Given the description of an element on the screen output the (x, y) to click on. 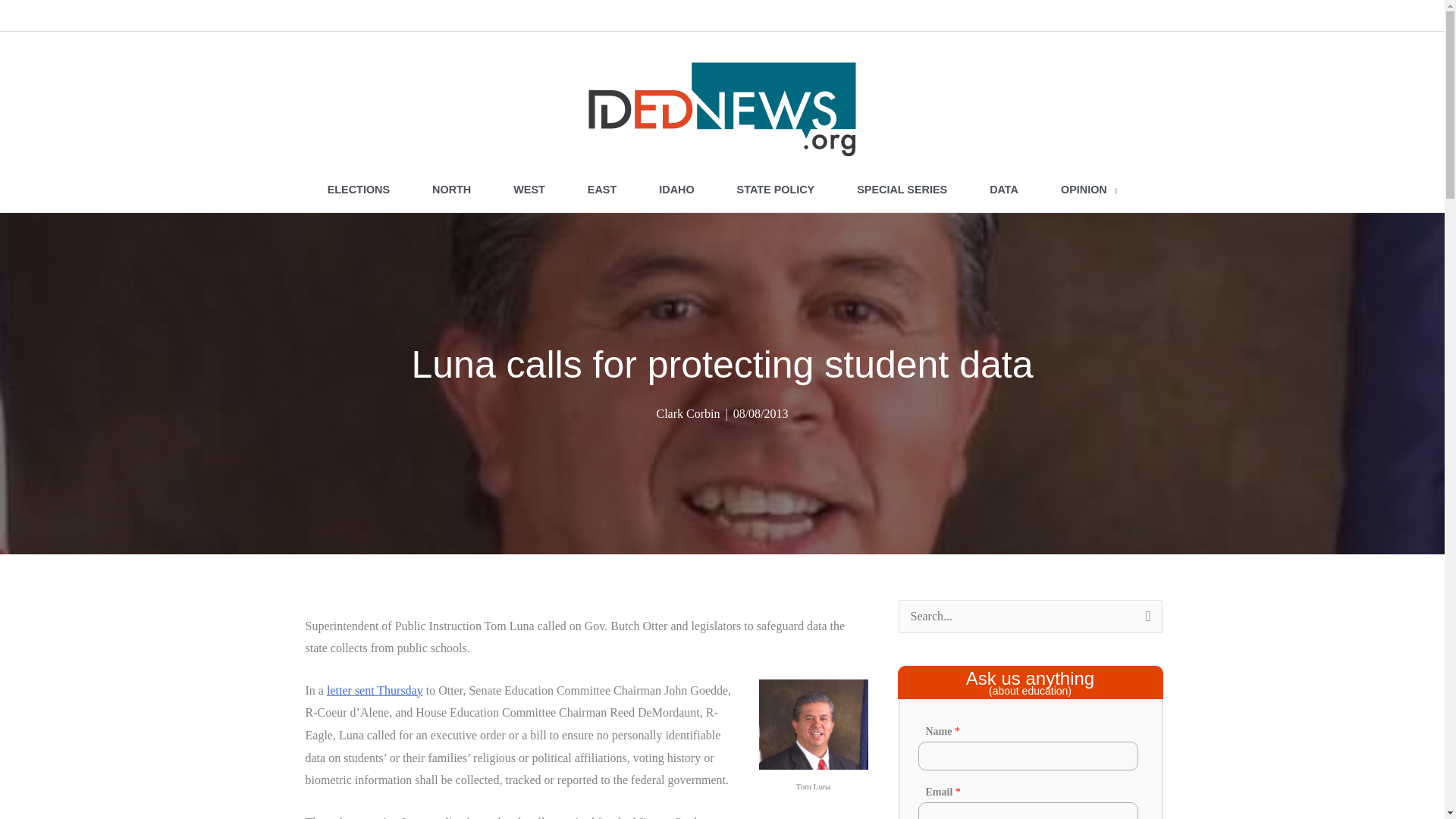
IDAHO (675, 190)
STATE POLICY (775, 190)
NORTH (451, 190)
EAST (601, 190)
DATA (1003, 190)
Clark Corbin (687, 413)
SPECIAL SERIES (901, 190)
OPINION (1088, 190)
WEST (529, 190)
ELECTIONS (357, 190)
letter sent Thursday (374, 689)
